Given the description of an element on the screen output the (x, y) to click on. 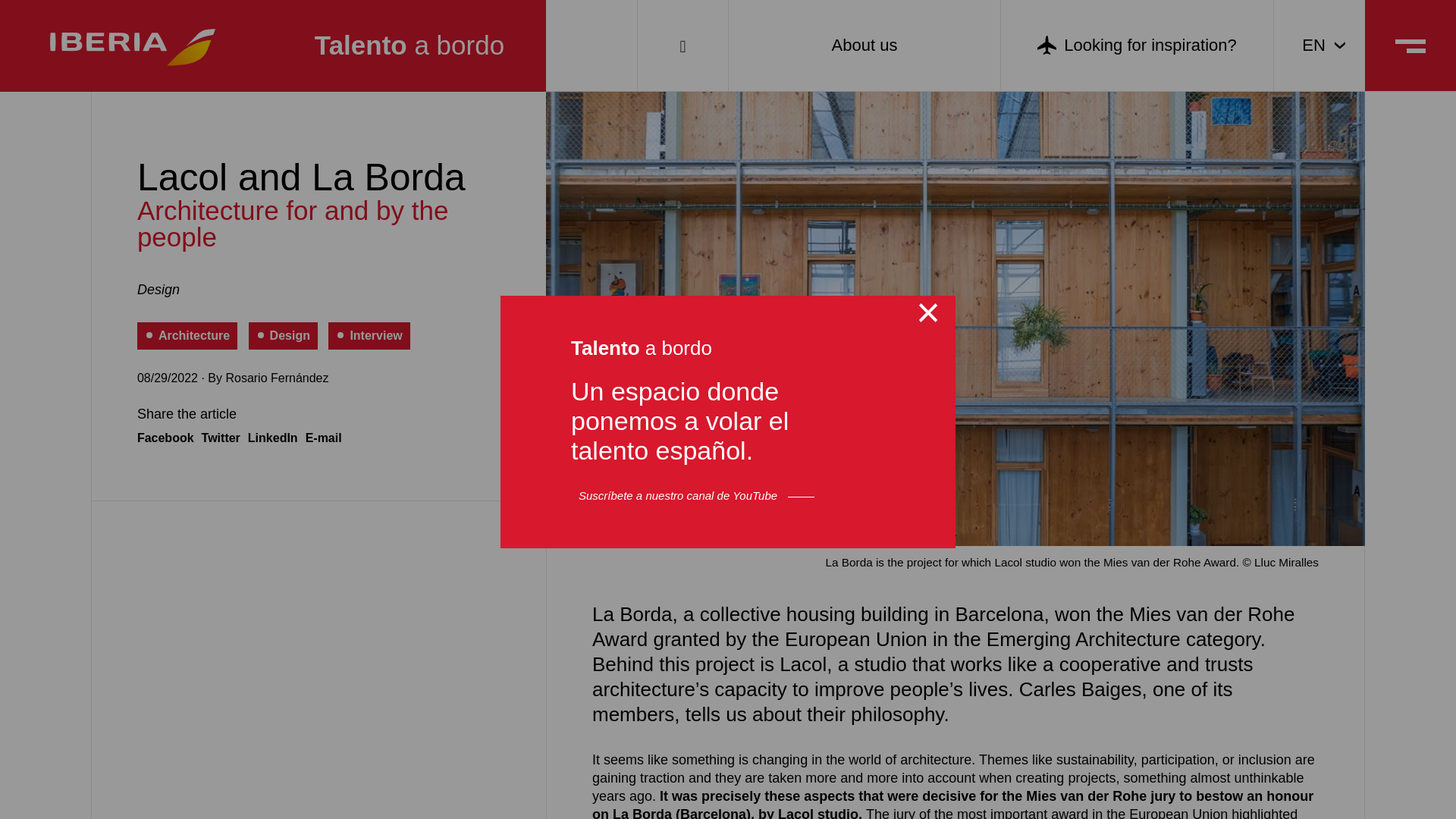
About us (864, 45)
Search (682, 45)
Facebook (164, 437)
Looking for inspiration? (1137, 45)
Home (409, 45)
Twitter (221, 437)
Talento a bordo (409, 45)
LinkedIn (272, 437)
Home (136, 45)
EN (1319, 45)
E-mail (323, 437)
